Given the description of an element on the screen output the (x, y) to click on. 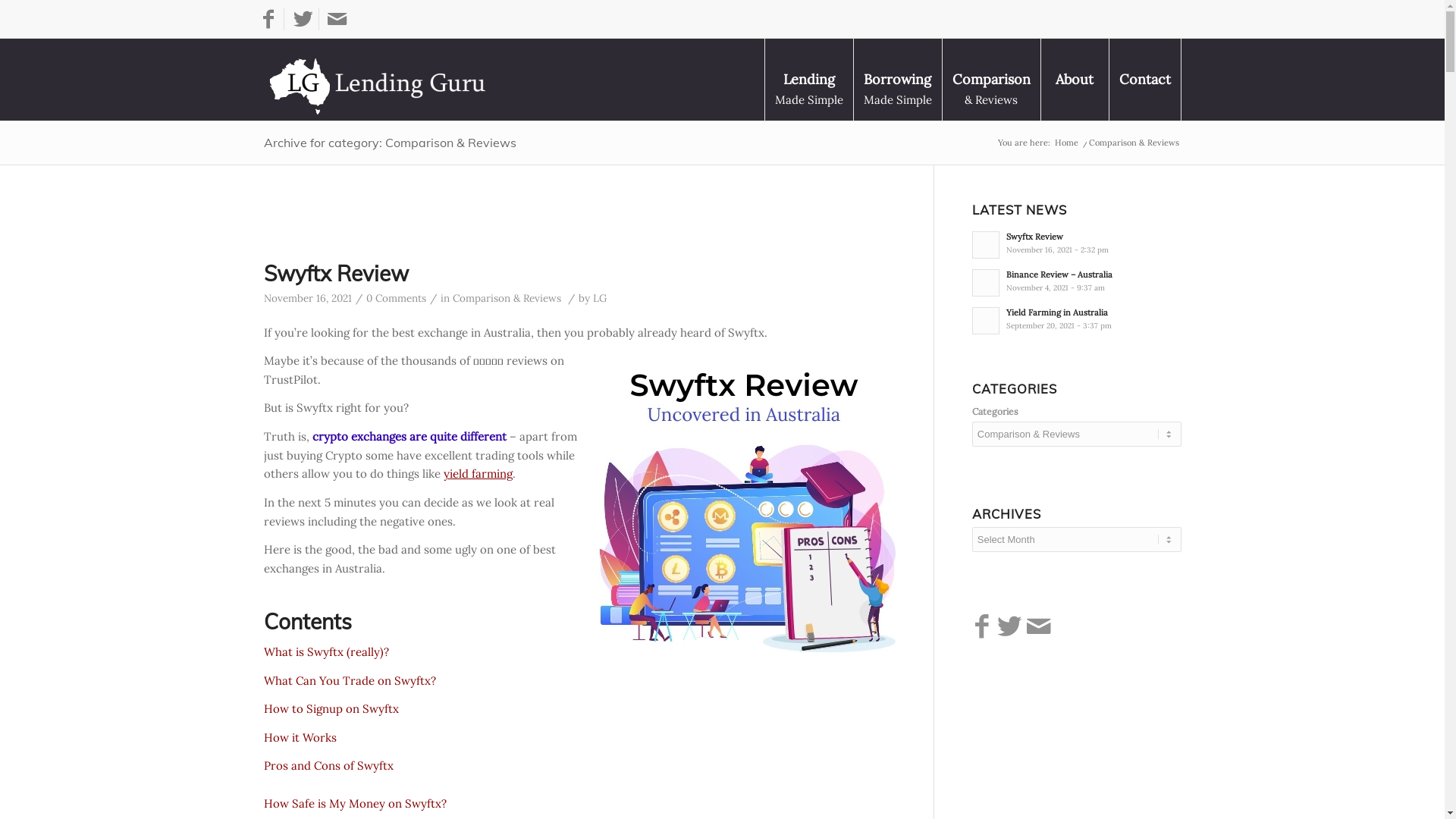
How to Signup on Swyftx Element type: text (330, 708)
What Can You Trade on Swyftx? Element type: text (349, 680)
Archive for category: Comparison & Reviews Element type: text (389, 142)
Borrowing
Made Simple Element type: text (896, 79)
Lending
Made Simple Element type: text (808, 79)
Contact Element type: text (1144, 79)
Comparison
& Reviews Element type: text (990, 79)
0 Comments Element type: text (395, 297)
What is Swyftx (really)? Element type: text (326, 651)
Facebook Element type: hover (267, 18)
How it Works Element type: text (299, 737)
Swyftx Review Element type: text (335, 273)
Yield Farming in Australia
September 20, 2021 - 3:37 pm Element type: text (1076, 319)
Home Element type: text (1066, 142)
Pros and Cons of Swyftx Element type: text (328, 765)
Mail Element type: hover (337, 18)
Comparison & Reviews Element type: text (505, 297)
LG Element type: text (599, 297)
Twitter Element type: hover (302, 18)
About Element type: text (1074, 79)
yield farming Element type: text (476, 473)
Swyftx Review
November 16, 2021 - 2:32 pm Element type: text (1076, 243)
